Given the description of an element on the screen output the (x, y) to click on. 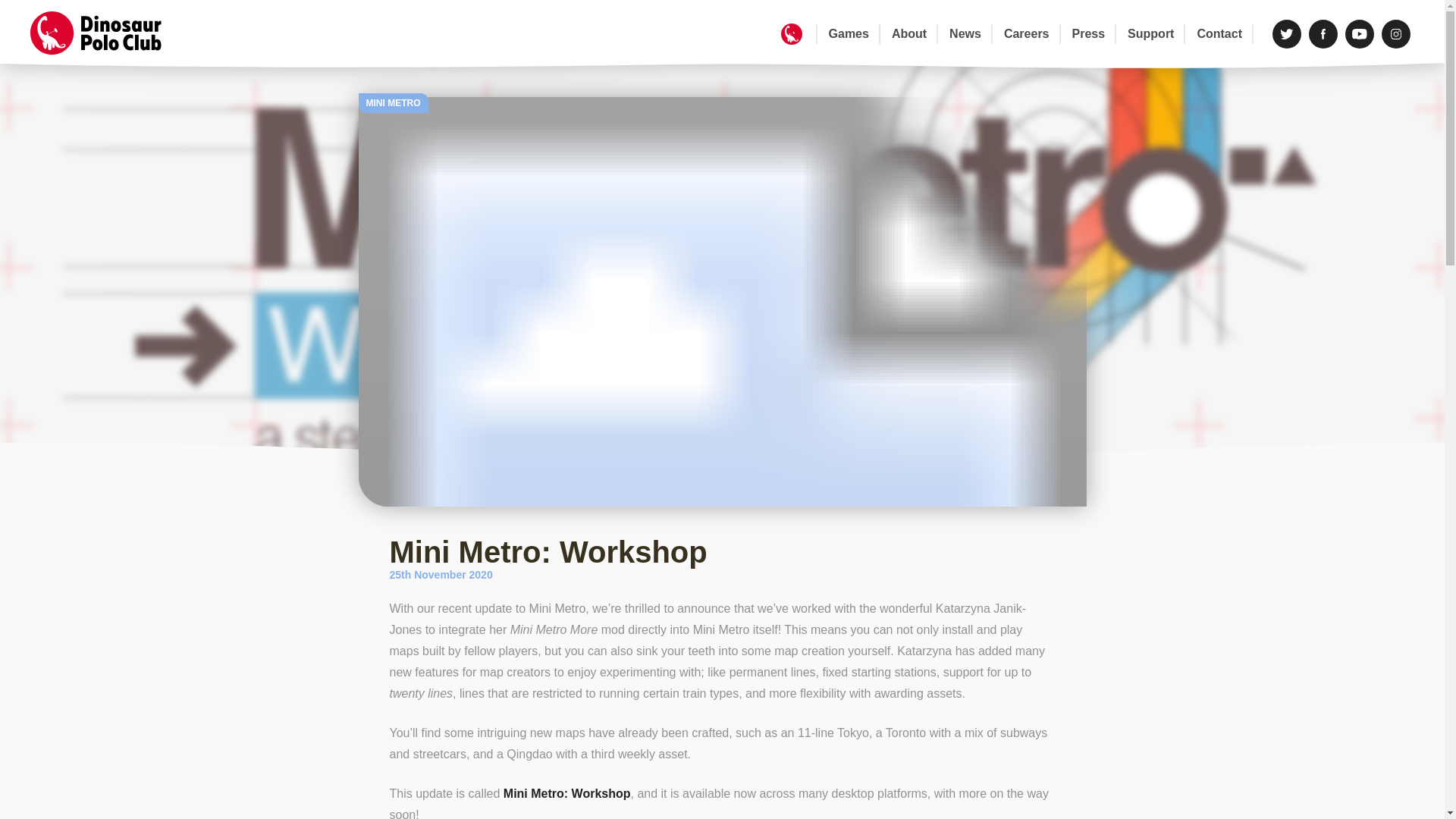
Careers (1026, 34)
Facebook (1323, 33)
Instagram (1395, 33)
Contact (1219, 34)
Homepage (791, 34)
MINI METRO (393, 103)
YouTube (1359, 33)
News (964, 34)
About (908, 34)
Twitter (1286, 33)
Press (1088, 34)
Dinosaur Polo Club (106, 33)
Games (848, 34)
Support (1150, 34)
